Given the description of an element on the screen output the (x, y) to click on. 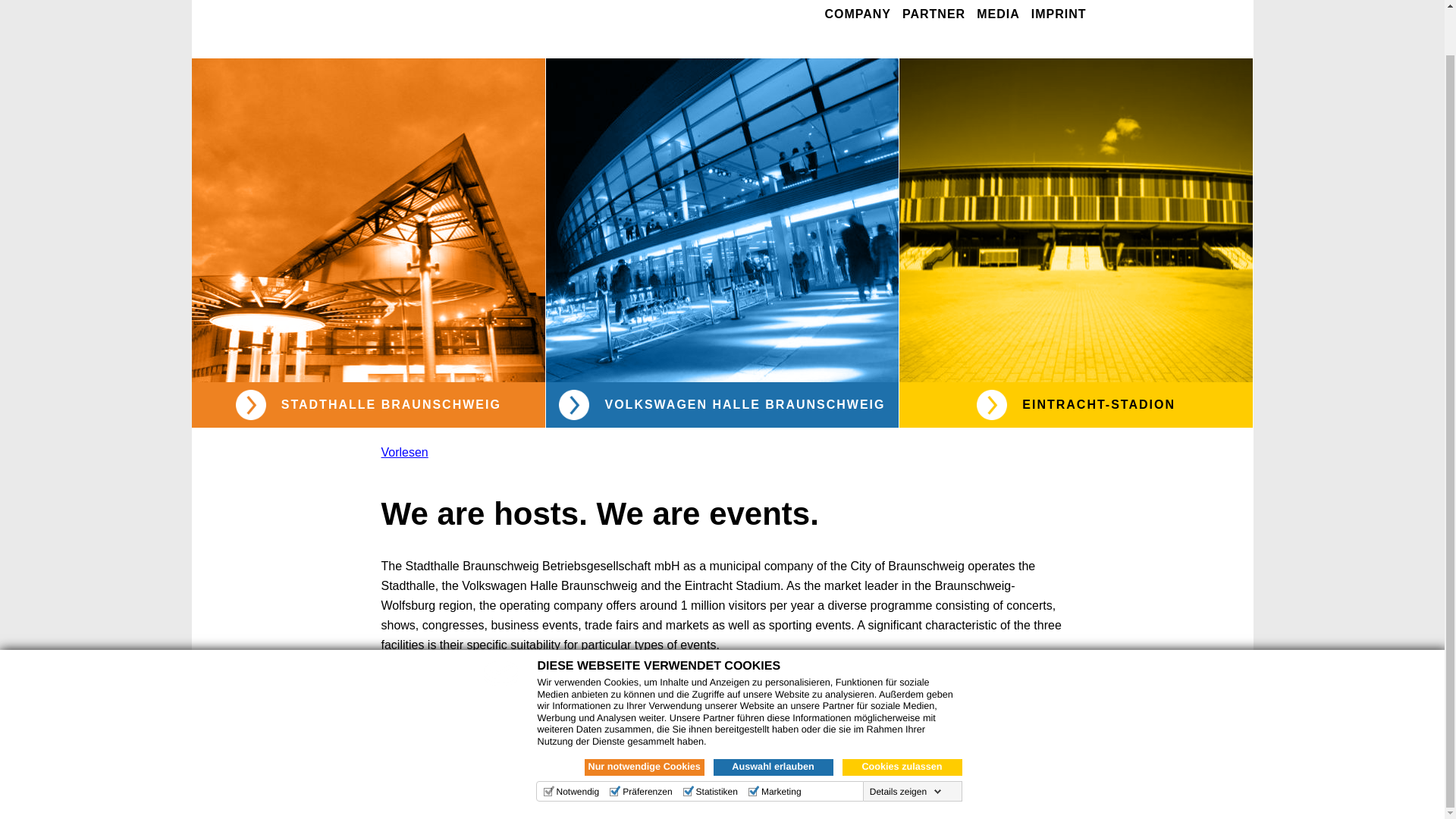
COMPANY (857, 14)
Nur notwendige Cookies (643, 719)
Cookies zulassen (900, 719)
Details zeigen (905, 743)
Auswahl erlauben (772, 719)
